Given the description of an element on the screen output the (x, y) to click on. 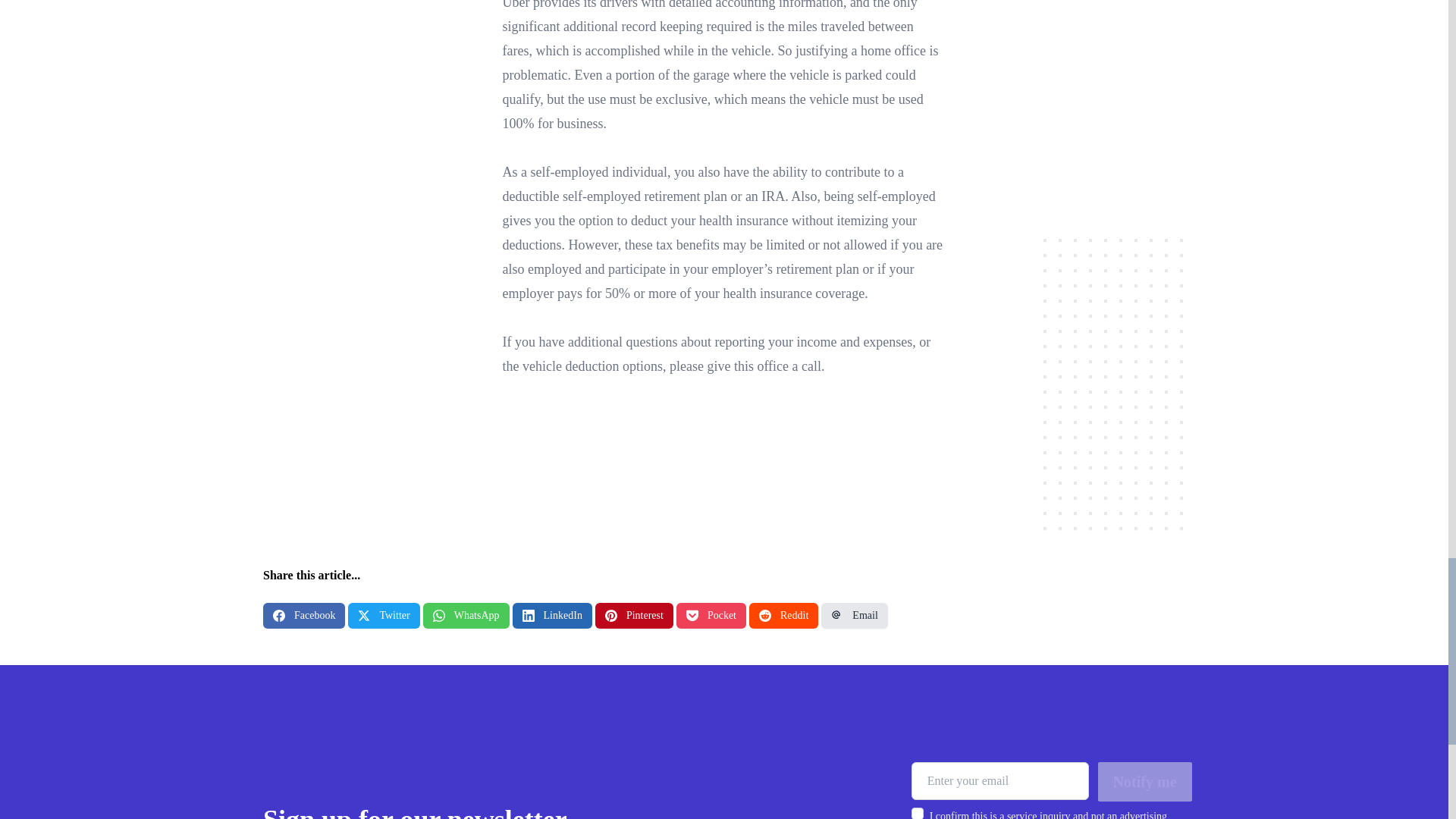
on (917, 813)
Pinterest (633, 615)
Pocket (711, 615)
Email (853, 615)
Facebook (304, 615)
Twitter (383, 615)
Reddit (783, 615)
Notify me (1144, 781)
WhatsApp (466, 615)
LinkedIn (552, 615)
